Given the description of an element on the screen output the (x, y) to click on. 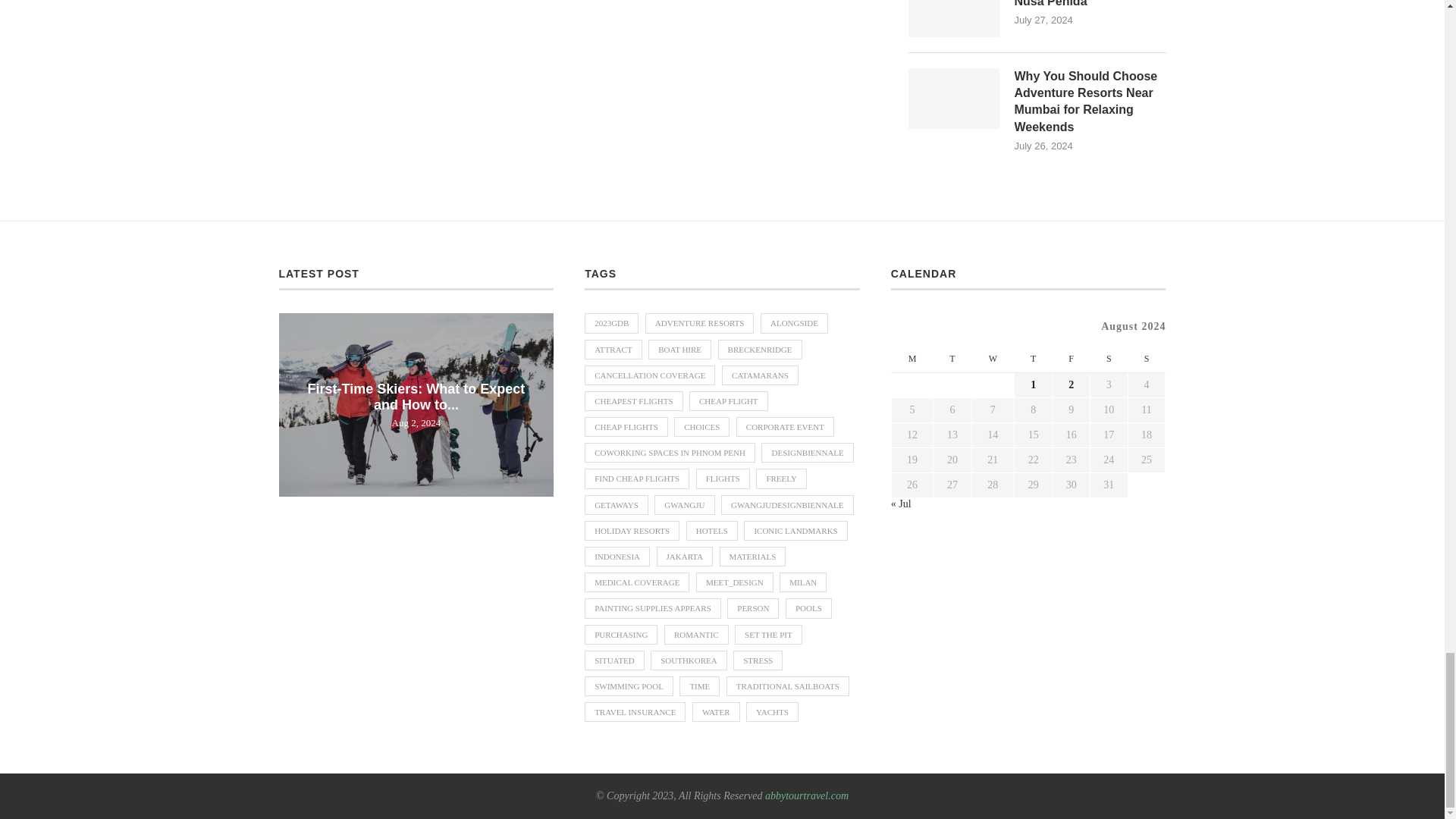
Top 5 Luxury Hotels in Nusa Penida (1090, 5)
Top 5 Luxury Hotels in Nusa Penida (953, 18)
